Given the description of an element on the screen output the (x, y) to click on. 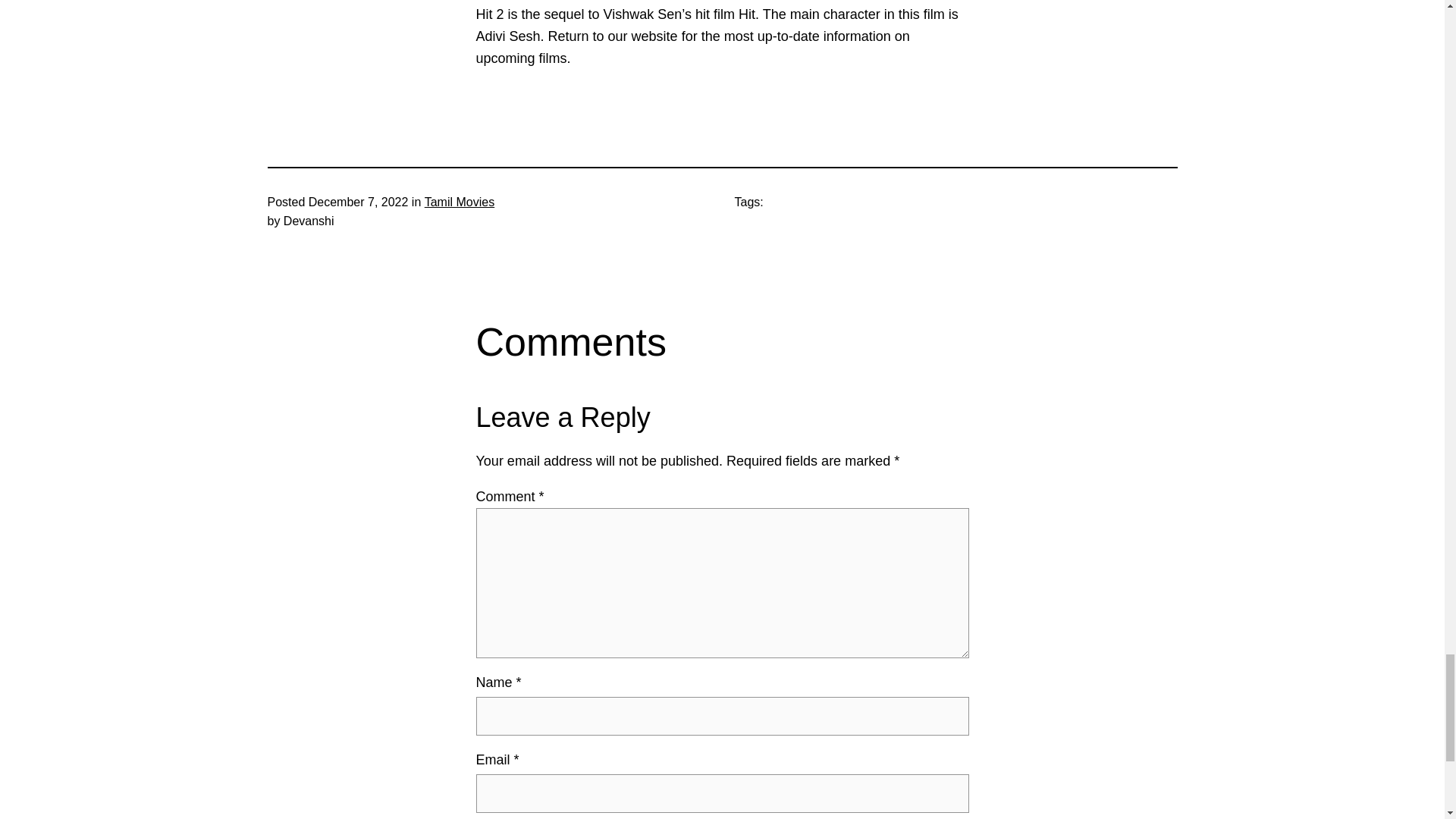
Tamil Movies (460, 201)
